Given the description of an element on the screen output the (x, y) to click on. 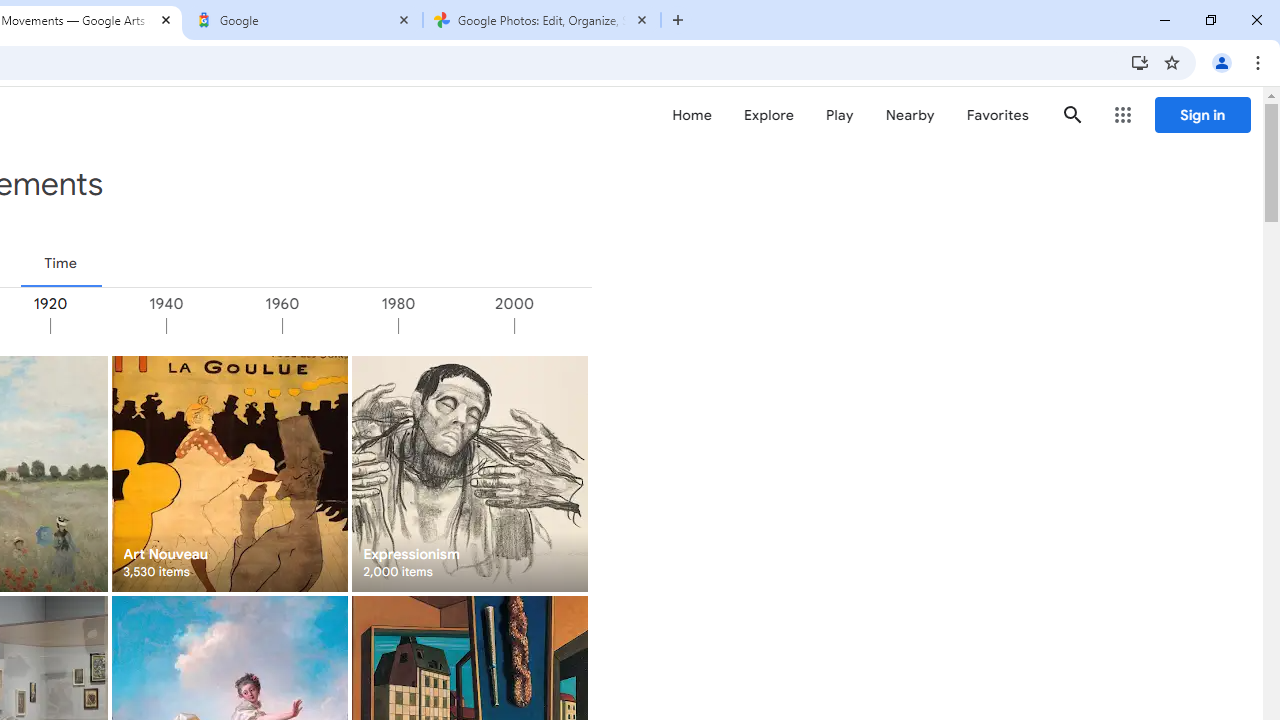
1960 (339, 326)
Play (840, 115)
Favorites (996, 115)
Explore (768, 115)
1920 (107, 326)
Art Nouveau 3,530 items (229, 473)
2000 (571, 326)
